Given the description of an element on the screen output the (x, y) to click on. 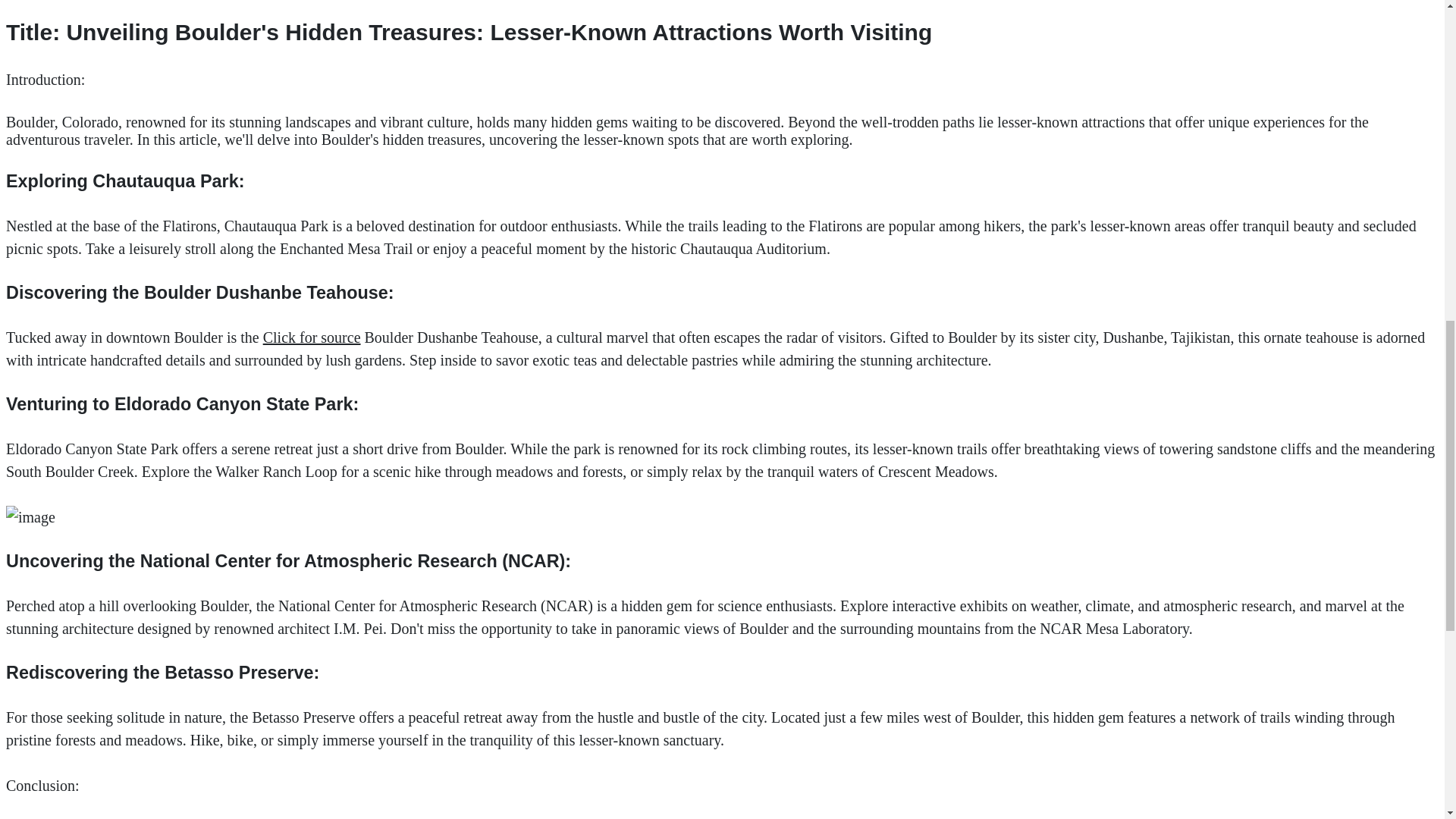
Click for source (312, 337)
